Given the description of an element on the screen output the (x, y) to click on. 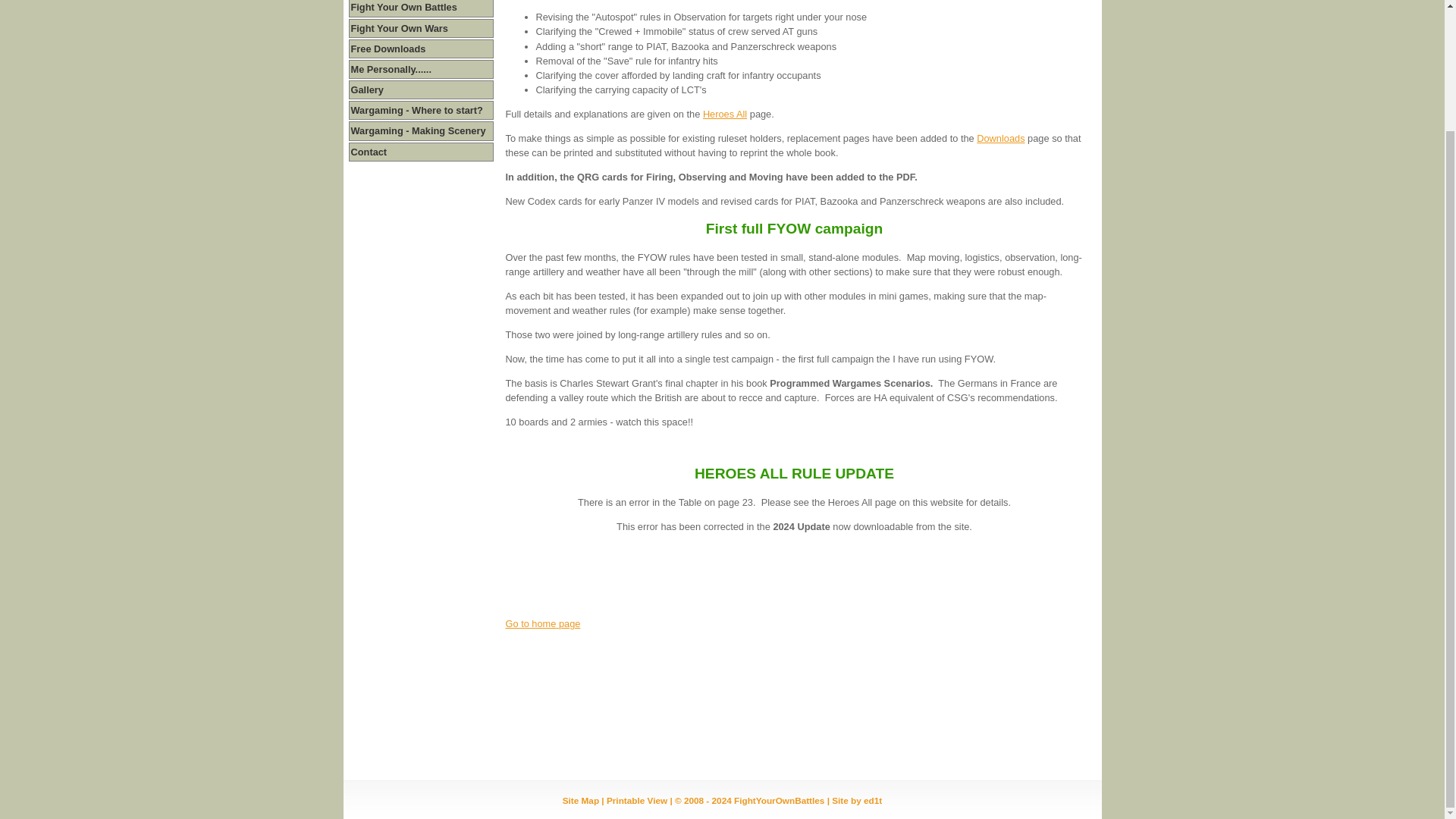
Fight Your Own Wars (398, 28)
Gallery (366, 89)
Free Downloads (387, 48)
Wargaming - Where to start? (415, 110)
Wargaming - Making Scenery (417, 130)
Go to home page (542, 623)
Fight Your Own Battles (403, 7)
Visit the ed1t web site (856, 800)
Contact (368, 152)
Heroes All (724, 113)
Me Personally...... (390, 69)
Site by ed1t (856, 800)
Printable View (636, 800)
Site Map (580, 800)
Downloads (1000, 138)
